Given the description of an element on the screen output the (x, y) to click on. 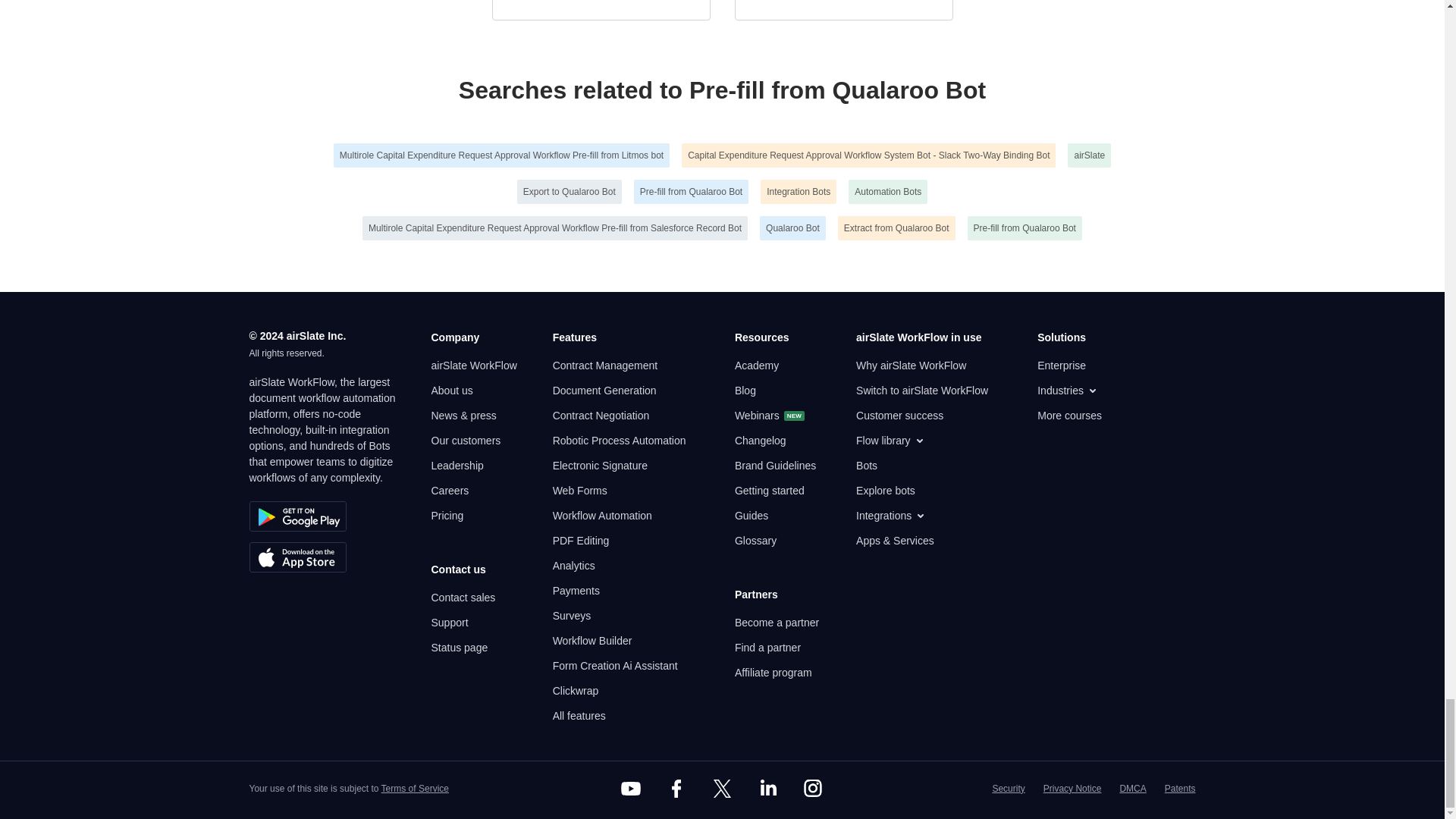
LinkedIn (767, 788)
Facebook (676, 788)
YouTube (630, 788)
Twitter (721, 788)
Instagram (812, 788)
